Given the description of an element on the screen output the (x, y) to click on. 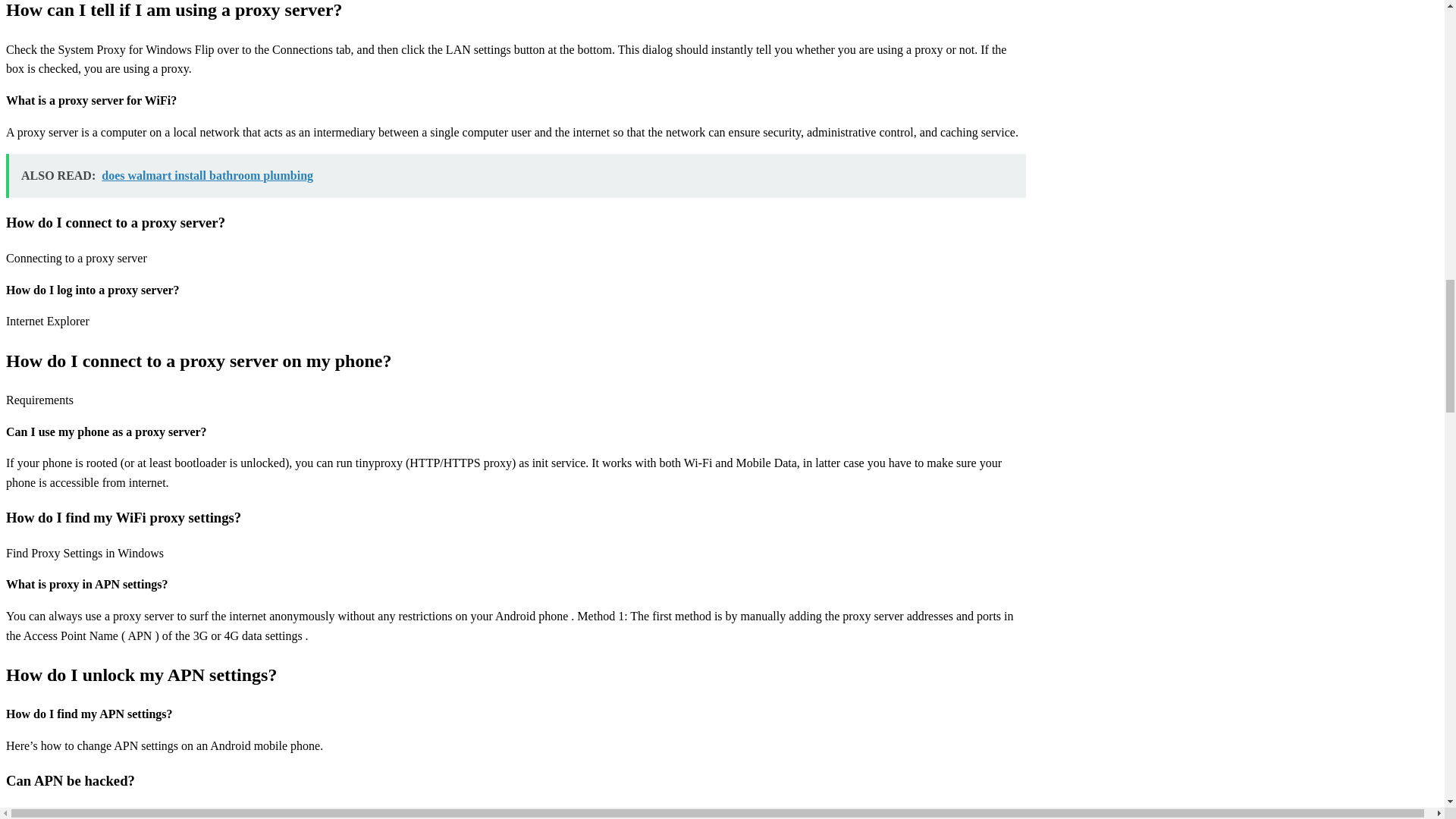
ALSO READ:  does walmart install bathroom plumbing (515, 175)
